Given the description of an element on the screen output the (x, y) to click on. 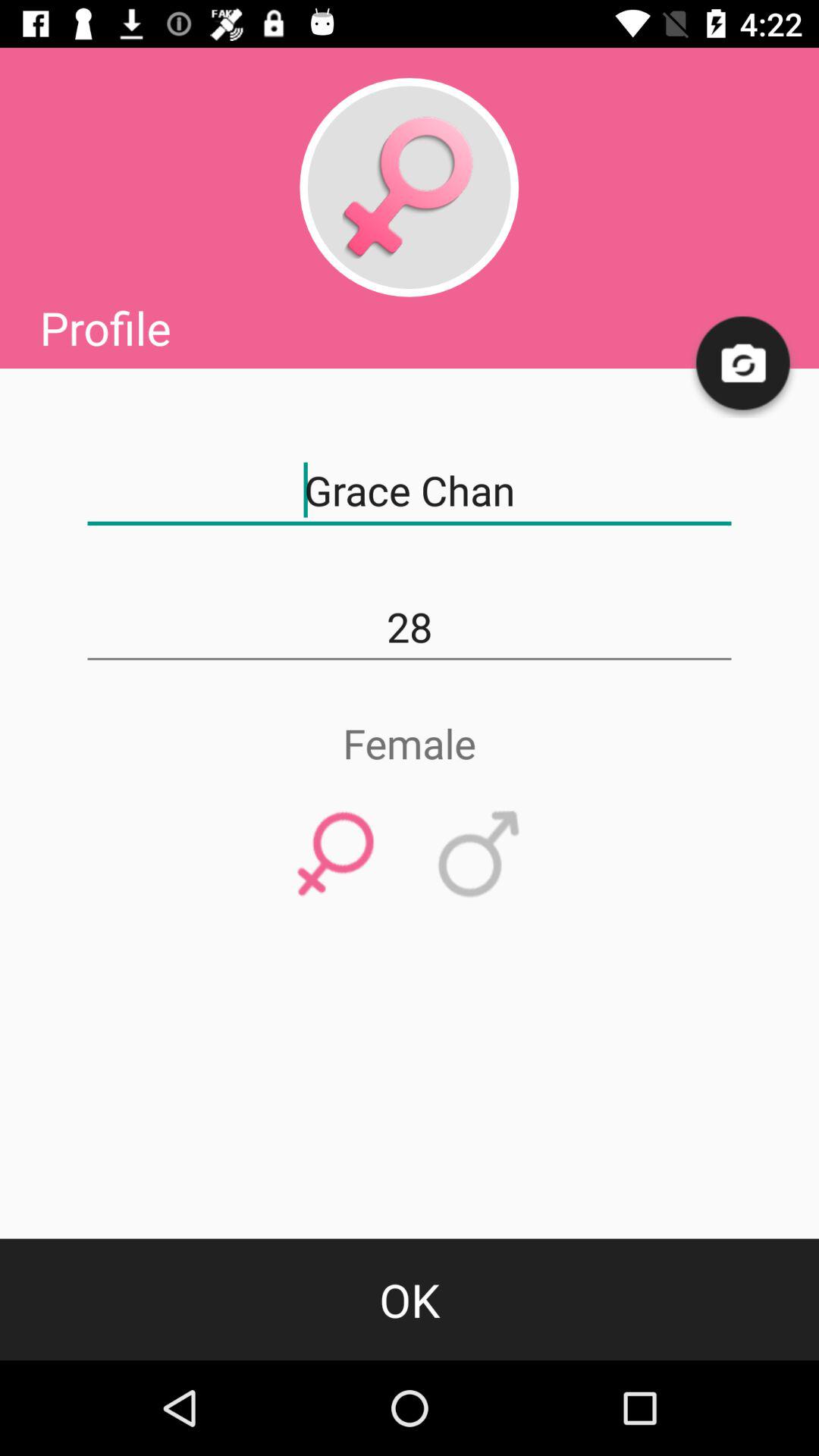
open item below female item (335, 854)
